Given the description of an element on the screen output the (x, y) to click on. 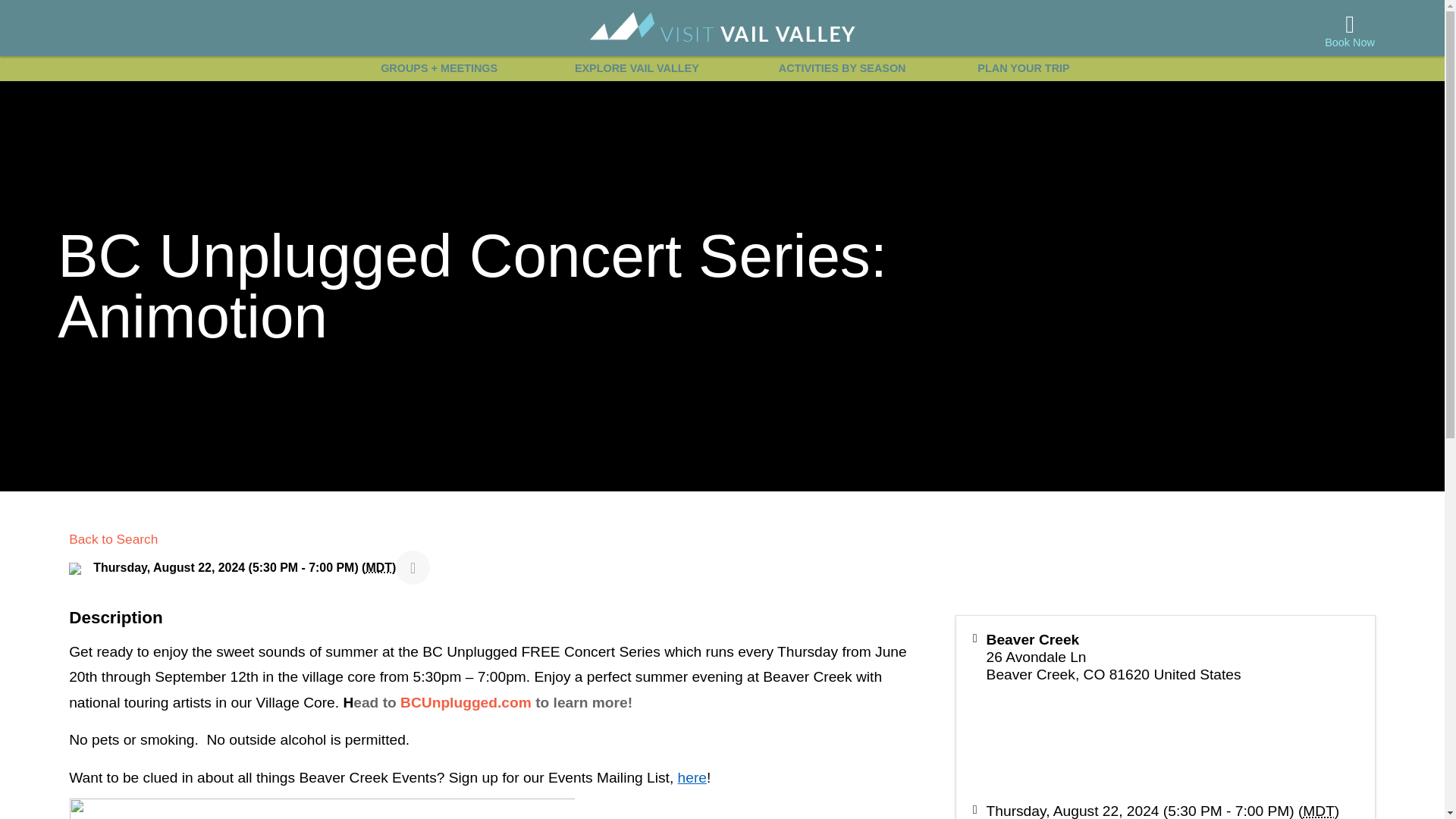
PLAN YOUR TRIP (1024, 68)
Back to Search (112, 539)
here (692, 777)
 BCUnplugged.com (463, 702)
Book Now (1350, 30)
ACTIVITIES BY SEASON (841, 68)
EXPLORE VAIL VALLEY (635, 68)
